Given the description of an element on the screen output the (x, y) to click on. 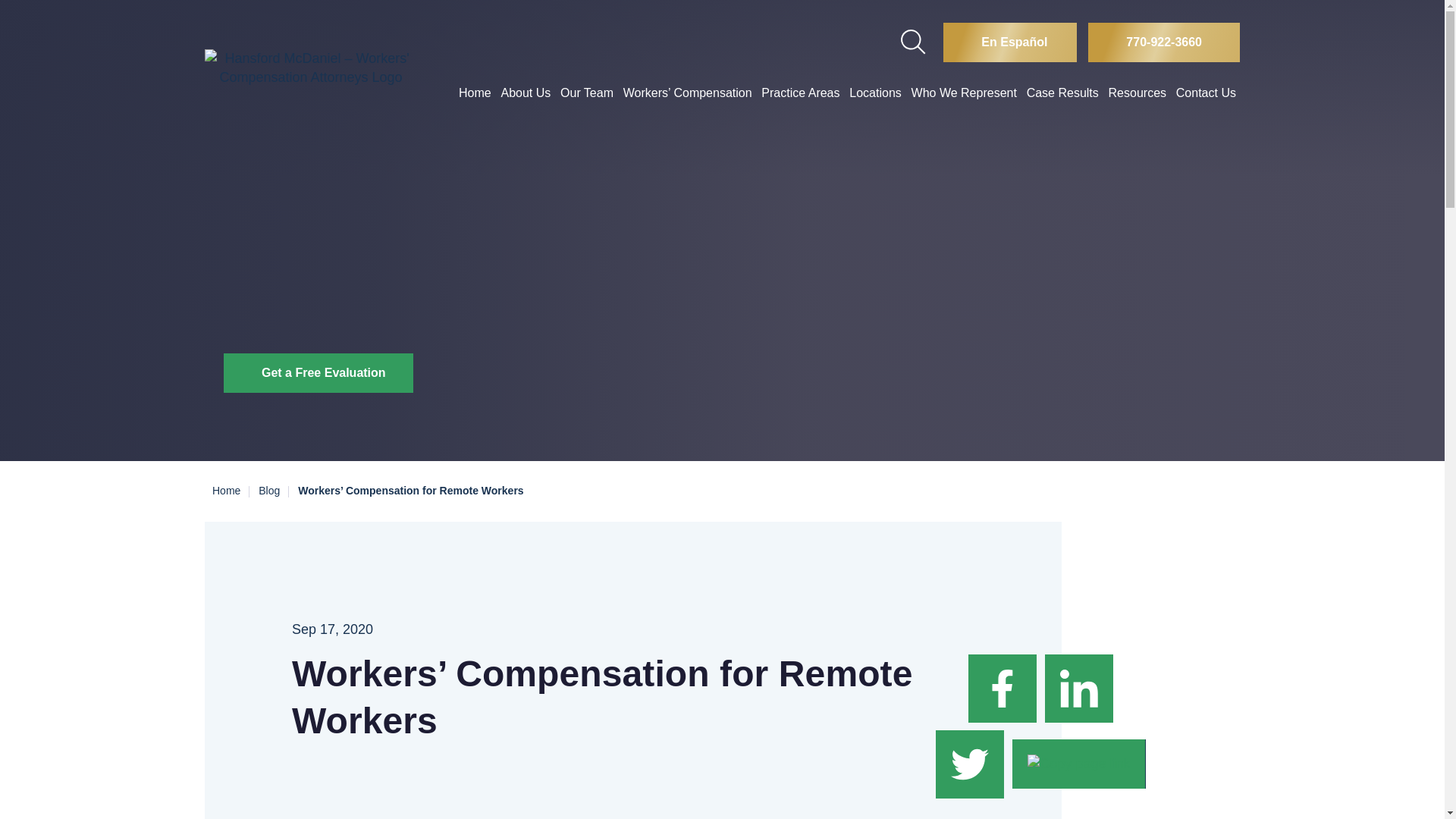
contact us (318, 372)
spanish page section (1010, 42)
Locations (875, 93)
Home (474, 93)
phone number (1163, 42)
About Us (525, 93)
770-922-3660 (1163, 42)
Our Team (586, 93)
Share This Article on Twitter (971, 763)
Share This Article on Facebook (1004, 687)
Practice Areas (800, 93)
Share This Article on Linkedin (1078, 687)
Copy this page link (1078, 763)
